Given the description of an element on the screen output the (x, y) to click on. 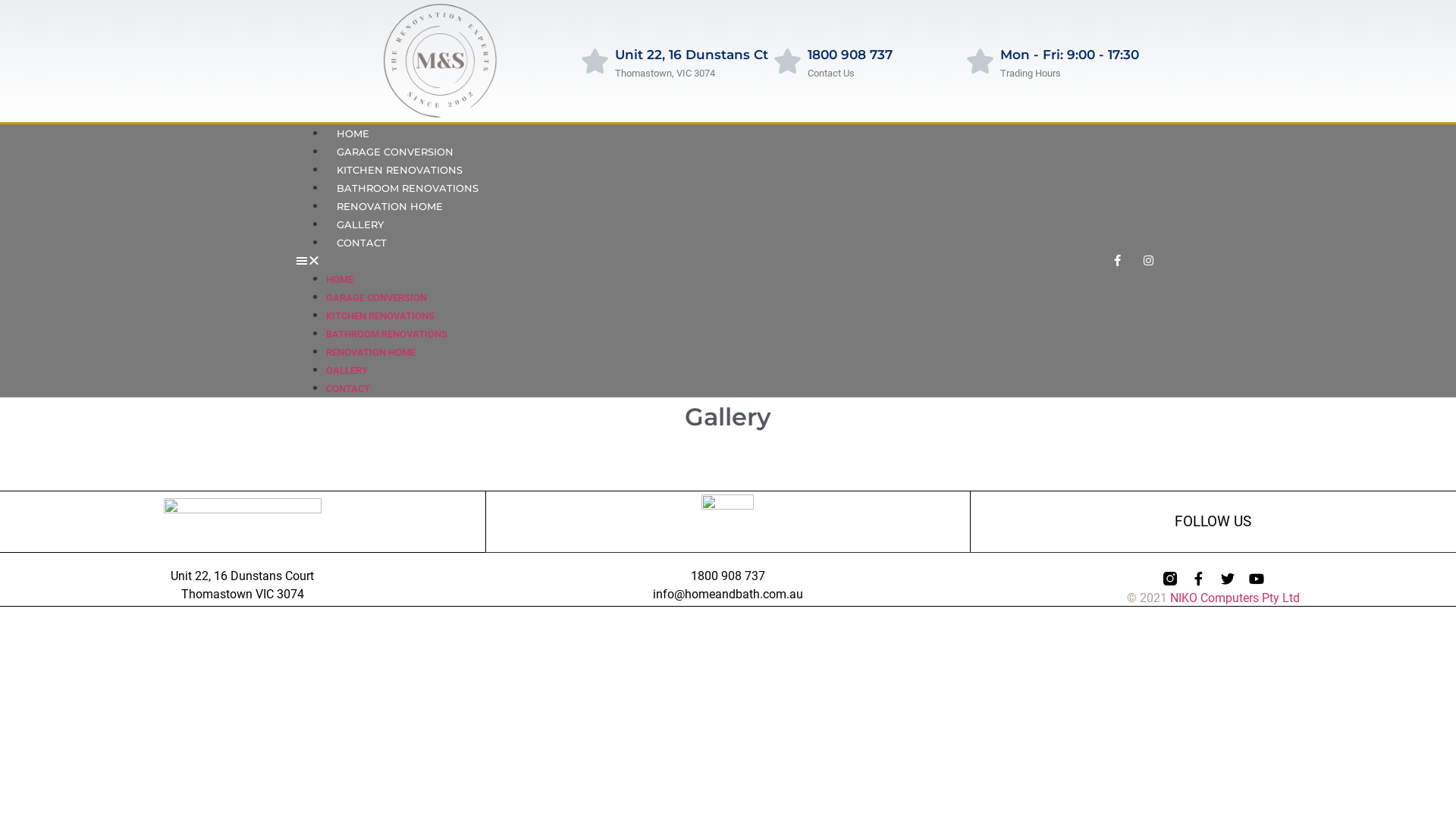
RENOVATION HOME Element type: text (389, 205)
CONTACT Element type: text (348, 388)
KITCHEN RENOVATIONS Element type: text (399, 169)
HOME Element type: text (352, 133)
NIKO Computers Pty Ltd Element type: text (1234, 597)
BATHROOM RENOVATIONS Element type: text (386, 333)
CONTACT Element type: text (361, 242)
GALLERY Element type: text (346, 370)
RENOVATION HOME Element type: text (370, 351)
HOME Element type: text (339, 279)
BATHROOM RENOVATIONS Element type: text (407, 187)
KITCHEN RENOVATIONS Element type: text (380, 315)
GALLERY Element type: text (360, 224)
GARAGE CONVERSION Element type: text (395, 151)
GARAGE CONVERSION Element type: text (376, 297)
